Given the description of an element on the screen output the (x, y) to click on. 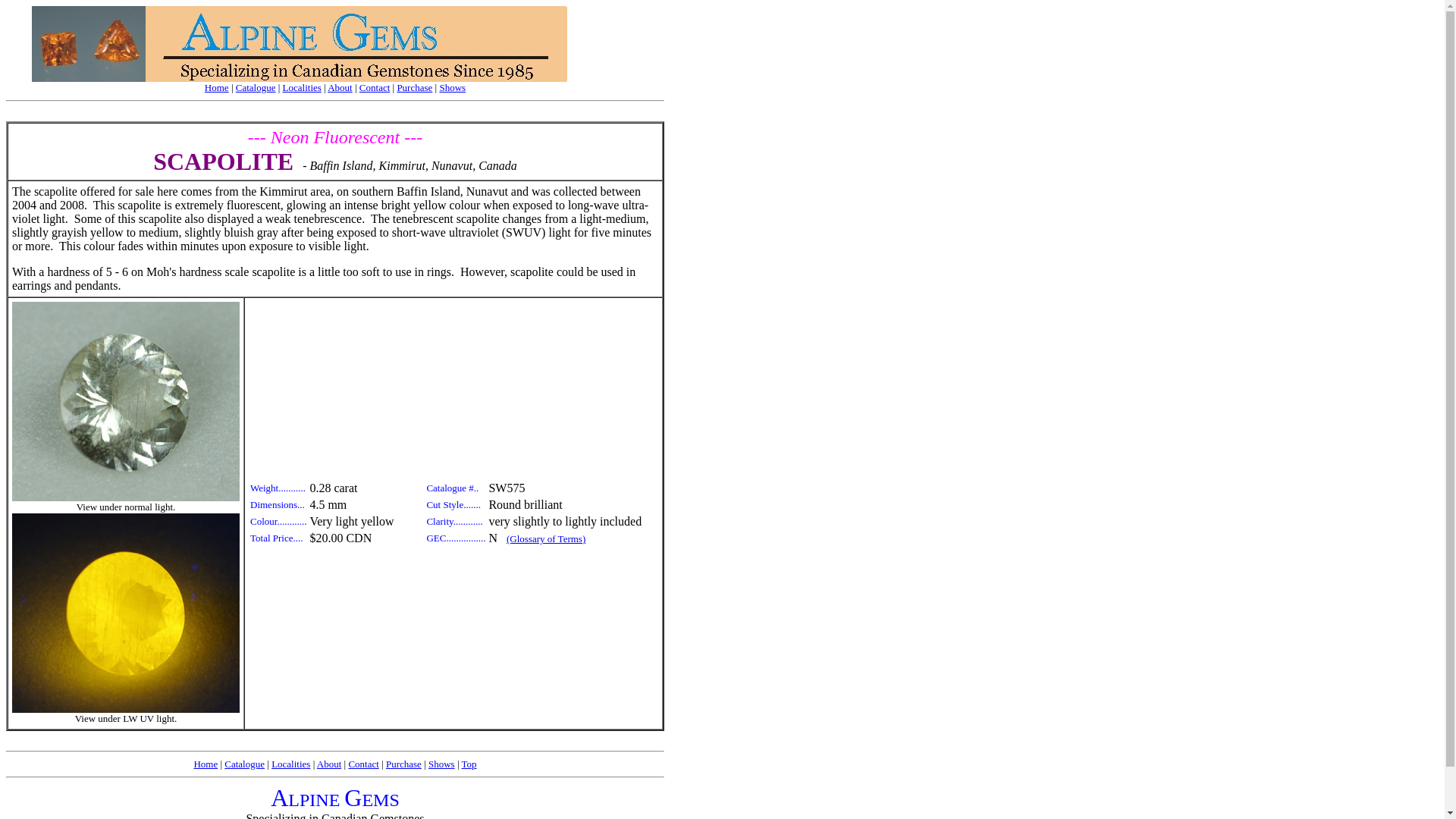
Top Element type: text (468, 763)
Home Element type: text (205, 763)
Catalogue Element type: text (244, 763)
Purchase Element type: text (403, 763)
(Glossary of Terms) Element type: text (545, 538)
Contact Element type: text (363, 763)
About Element type: text (329, 763)
Catalogue Element type: text (255, 87)
Home Element type: text (216, 87)
About Element type: text (339, 87)
Shows Element type: text (441, 763)
Localities Element type: text (301, 87)
Shows Element type: text (452, 87)
Contact Element type: text (374, 87)
Purchase Element type: text (414, 87)
Localities Element type: text (290, 763)
